Given the description of an element on the screen output the (x, y) to click on. 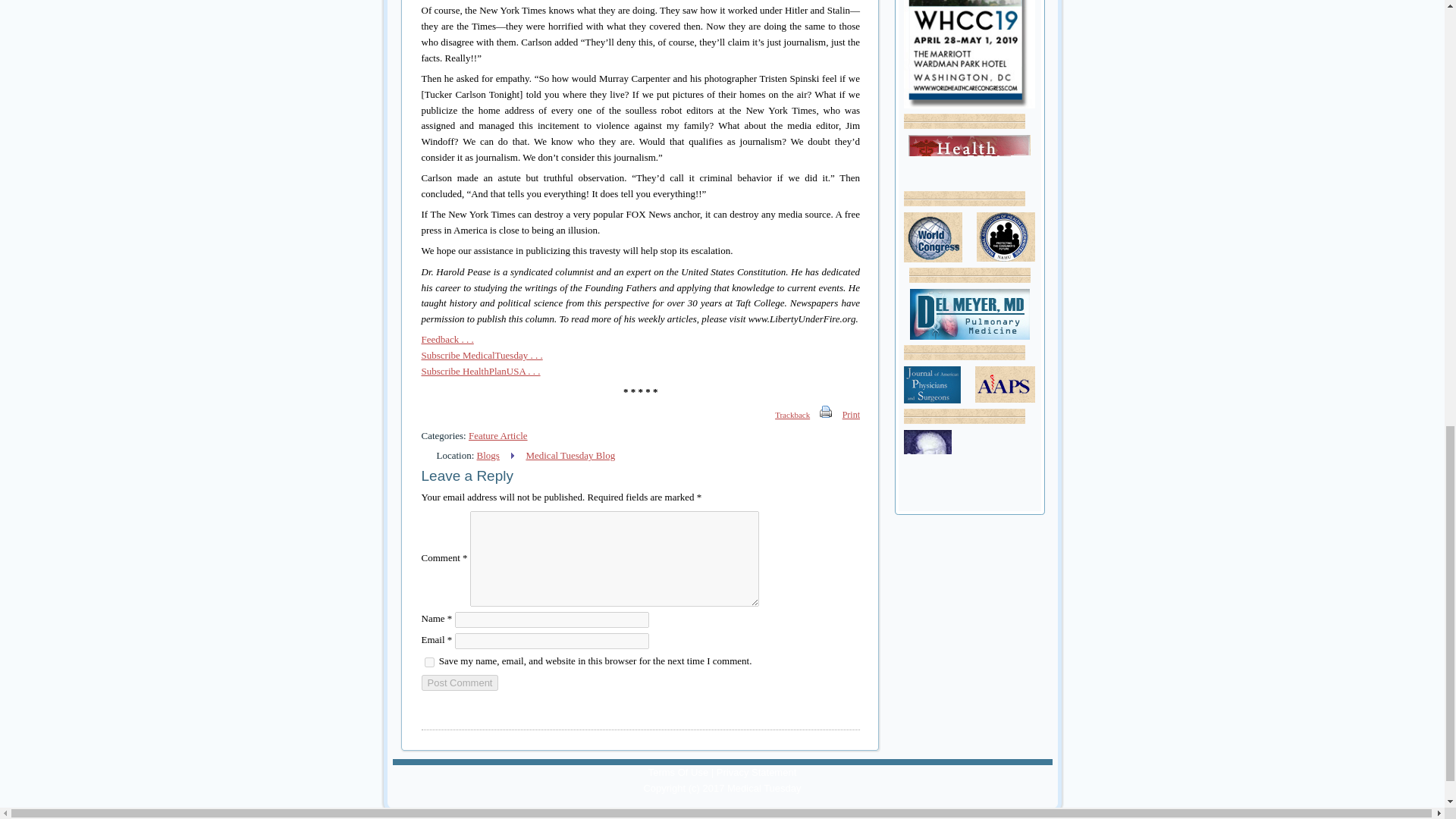
Blogs (488, 455)
Subscribe HealthPlanUSA . . . (481, 370)
Feedback . . . (448, 338)
Feature Article (497, 435)
Print (851, 414)
Medical Tuesday Blog (569, 455)
Print (826, 414)
yes (429, 662)
Post Comment (460, 682)
Trackback (784, 414)
